Given the description of an element on the screen output the (x, y) to click on. 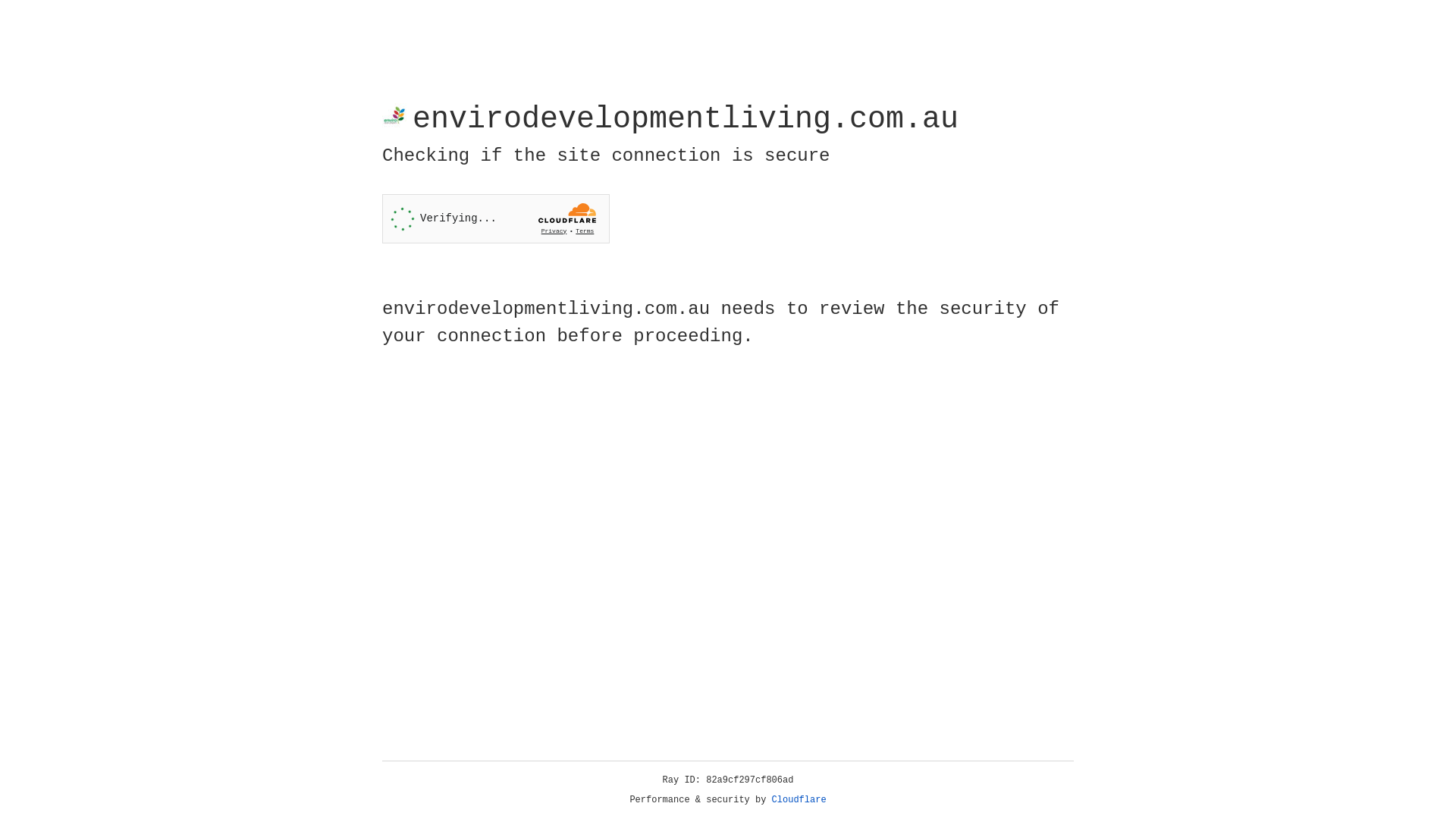
Cloudflare Element type: text (798, 799)
Widget containing a Cloudflare security challenge Element type: hover (495, 218)
